Given the description of an element on the screen output the (x, y) to click on. 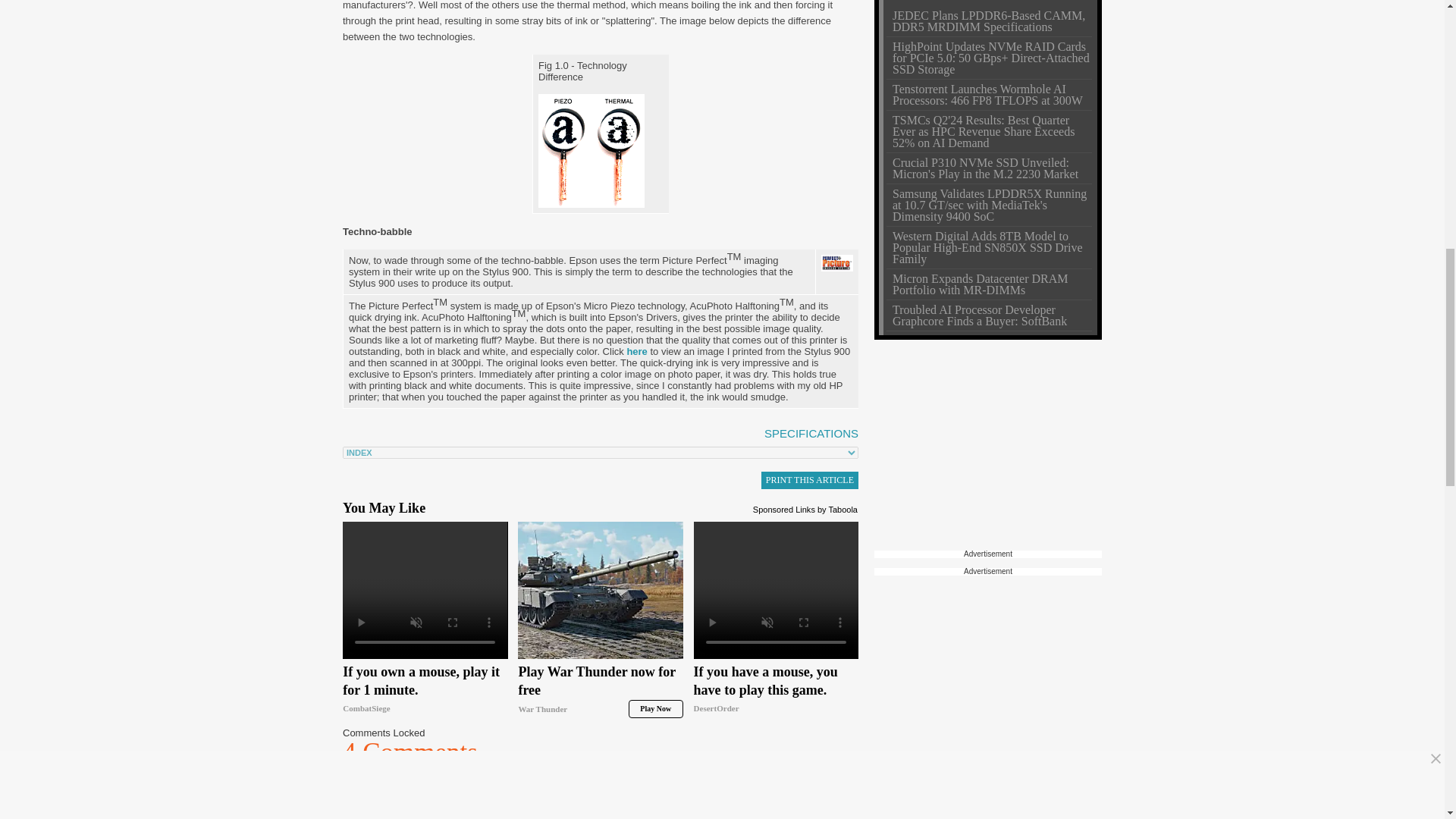
If you own a mouse, play it for 1 minute. (424, 590)
Play War Thunder now for free (600, 590)
Play War Thunder now for free (600, 690)
If you own a mouse, play it for 1 minute. (424, 689)
